Given the description of an element on the screen output the (x, y) to click on. 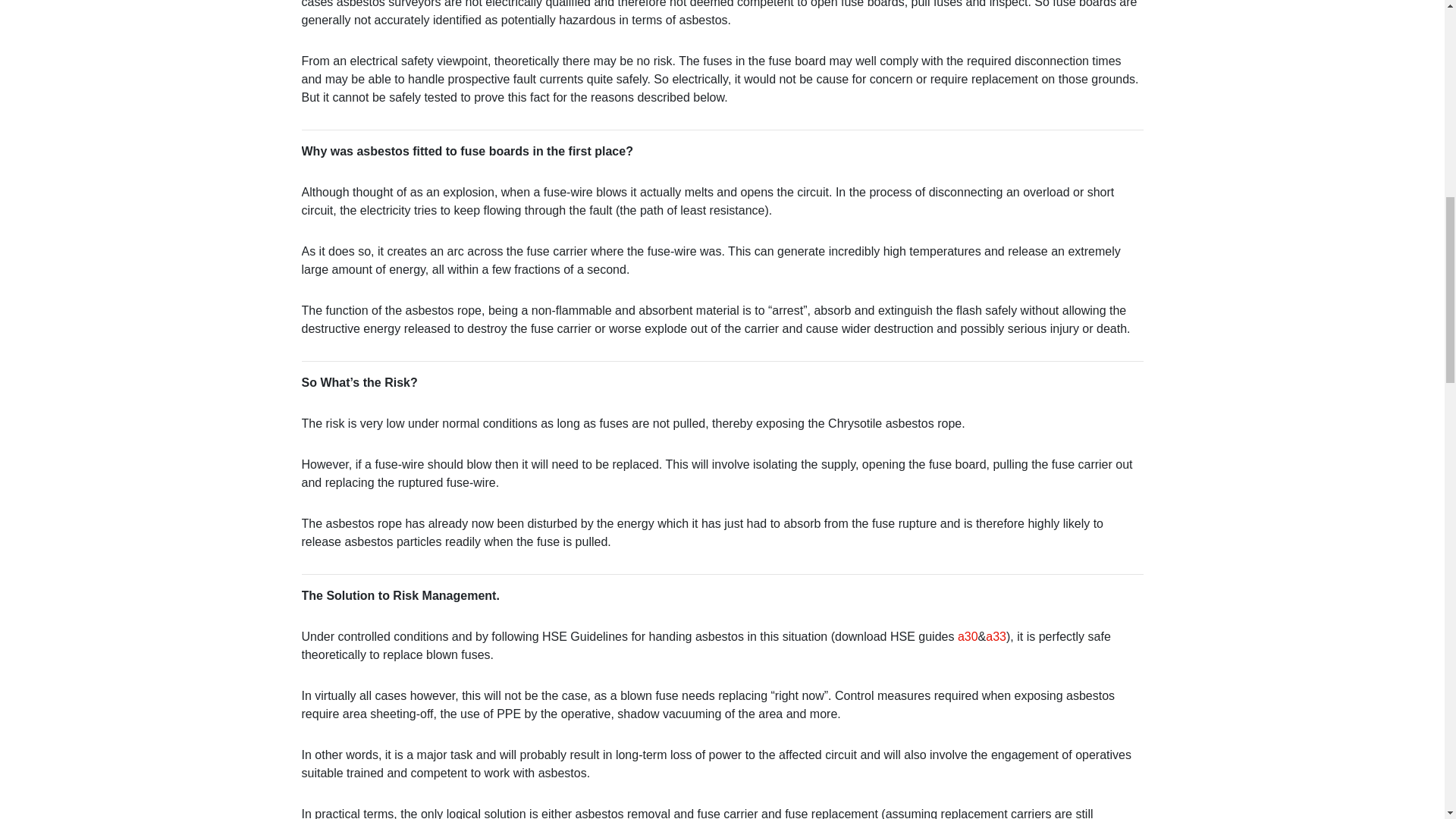
a33 (995, 635)
a30 (968, 635)
